Given the description of an element on the screen output the (x, y) to click on. 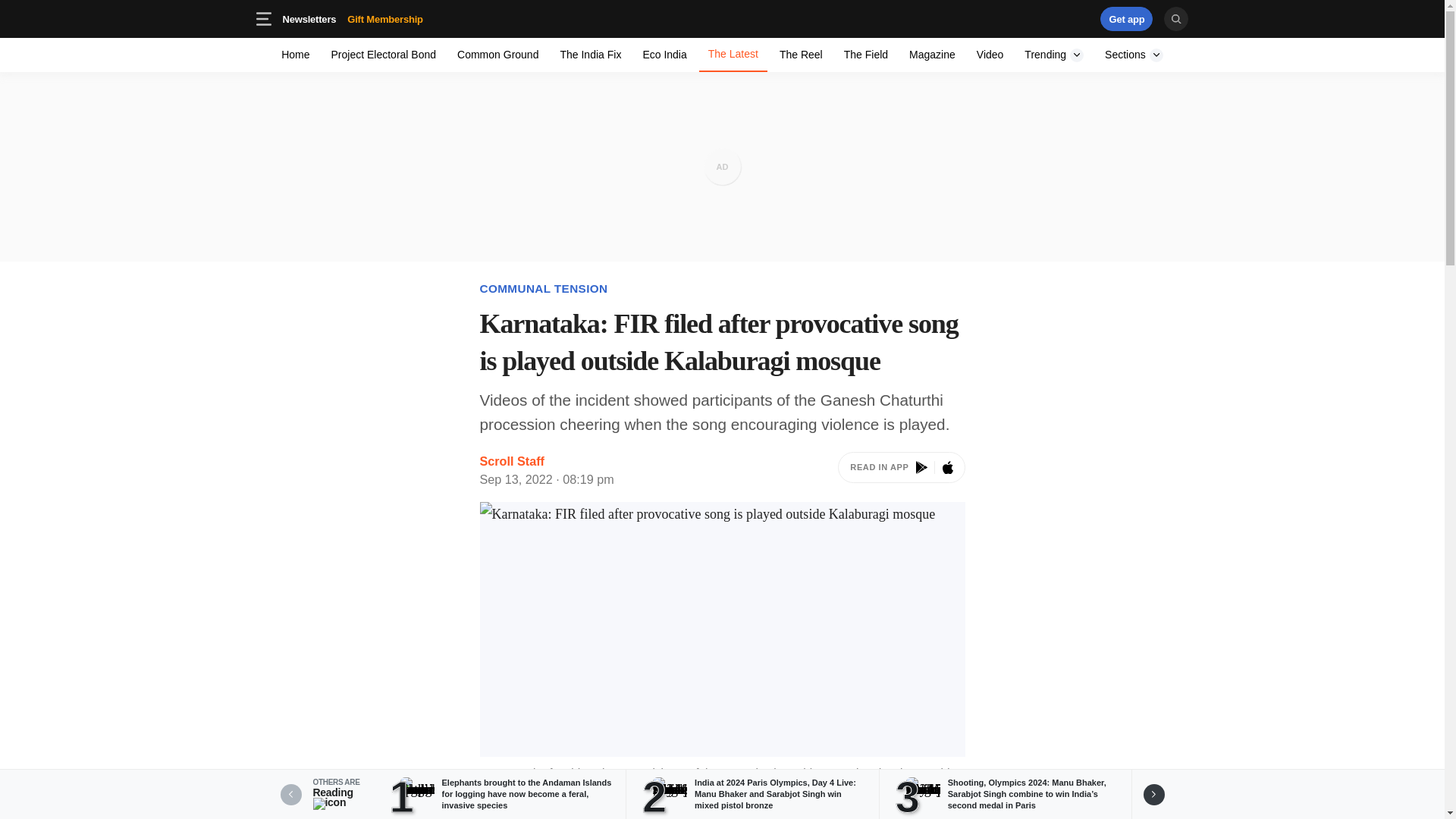
Newsletters (309, 18)
Home (295, 54)
The Field (865, 54)
READ IN APP (900, 470)
Common Ground (497, 54)
Get app (1126, 18)
The Reel (409, 18)
Get app (352, 18)
Video (800, 54)
Get app (721, 18)
Sections (1035, 18)
Gift Membership (990, 54)
